Given the description of an element on the screen output the (x, y) to click on. 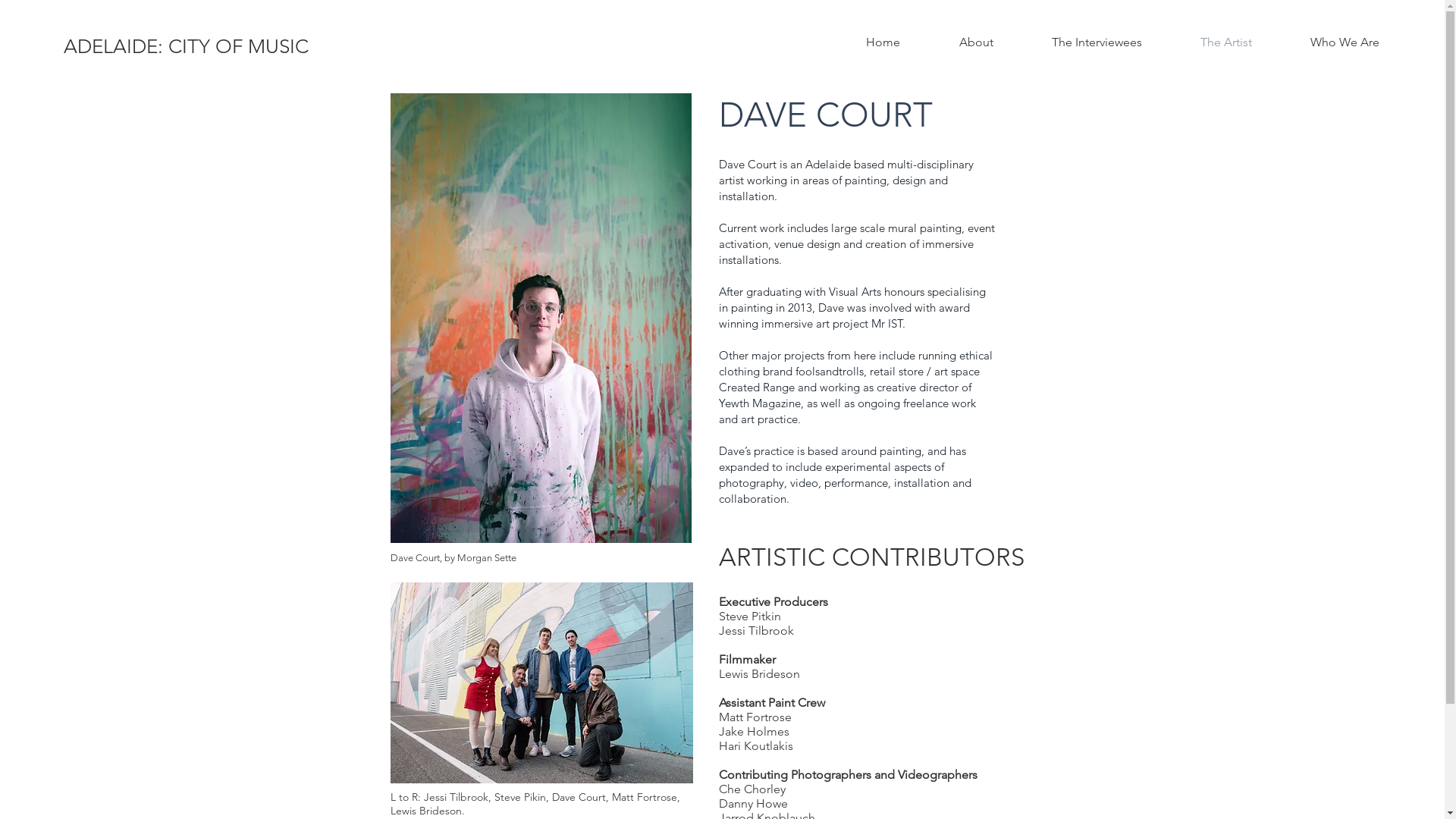
About Element type: text (975, 42)
ADELAIDE: CITY OF MUSIC Element type: text (185, 46)
Created Range Element type: text (756, 386)
Home Element type: text (882, 42)
The Artist Element type: text (1225, 42)
Mr IST Element type: text (885, 323)
Who We Are Element type: text (1344, 42)
The Interviewees Element type: text (1096, 42)
Yewth Magazine Element type: text (759, 402)
